Given the description of an element on the screen output the (x, y) to click on. 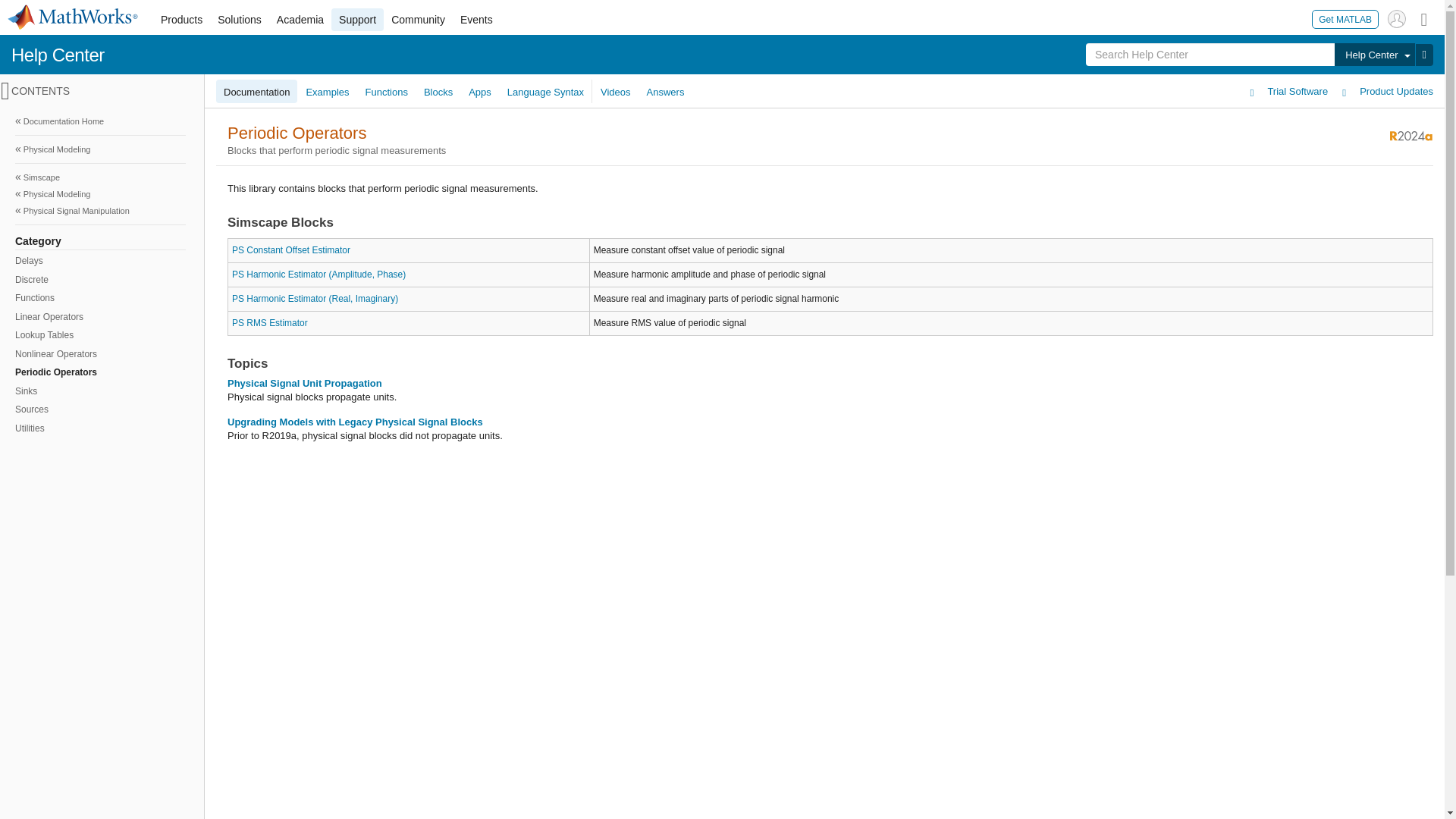
Products (180, 19)
Community (418, 19)
Solutions (239, 19)
Get MATLAB (1344, 18)
Support (357, 19)
Matrix Menu (1423, 18)
Academia (300, 19)
Sign In to Your MathWorks Account (1396, 18)
Events (476, 19)
